Given the description of an element on the screen output the (x, y) to click on. 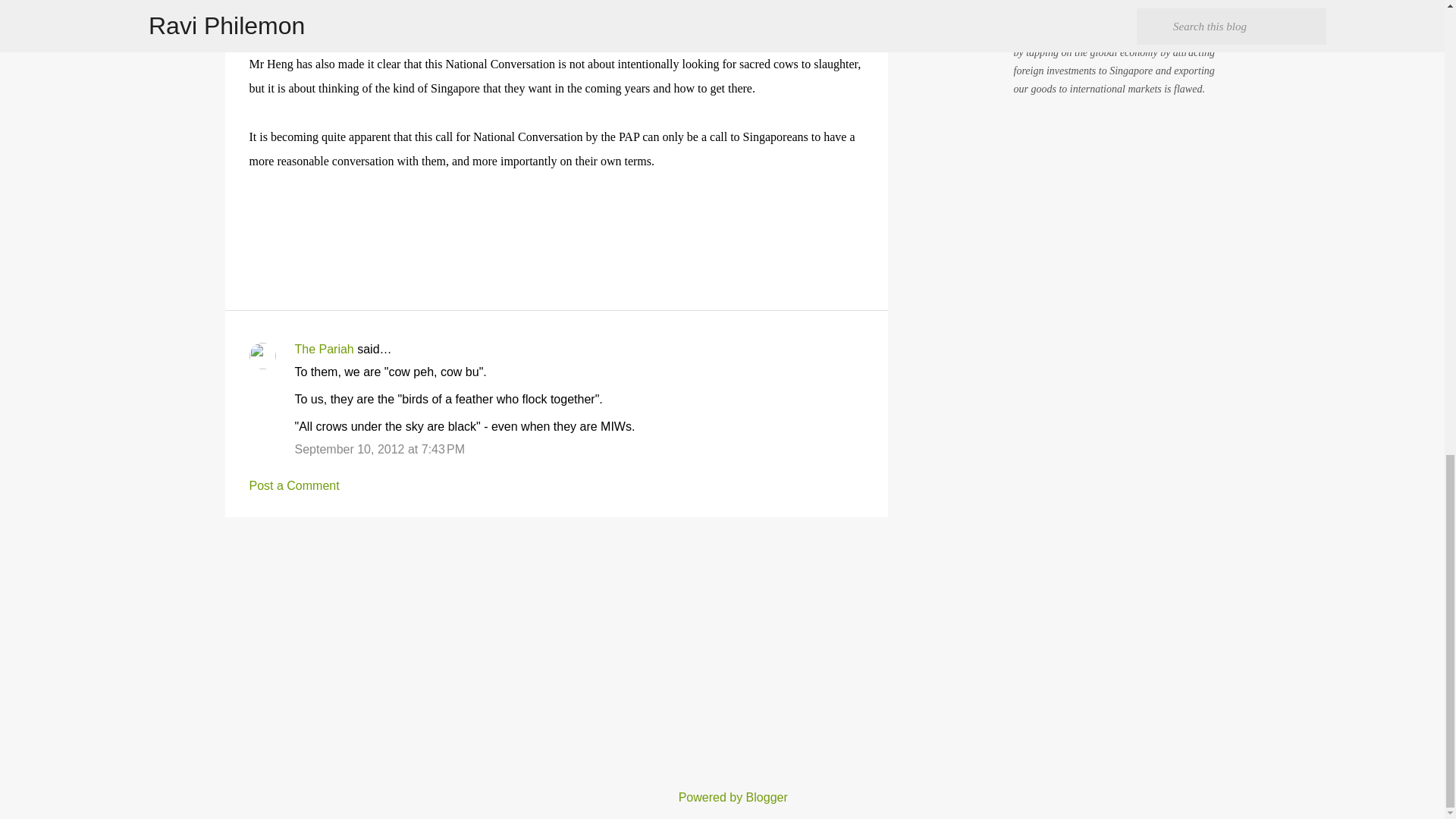
comment permalink (379, 449)
Risks of Unchecked Export-Driven Growth (1112, 5)
Post a Comment (293, 485)
Email Post (257, 213)
The Pariah (323, 349)
Powered by Blogger (721, 797)
